Given the description of an element on the screen output the (x, y) to click on. 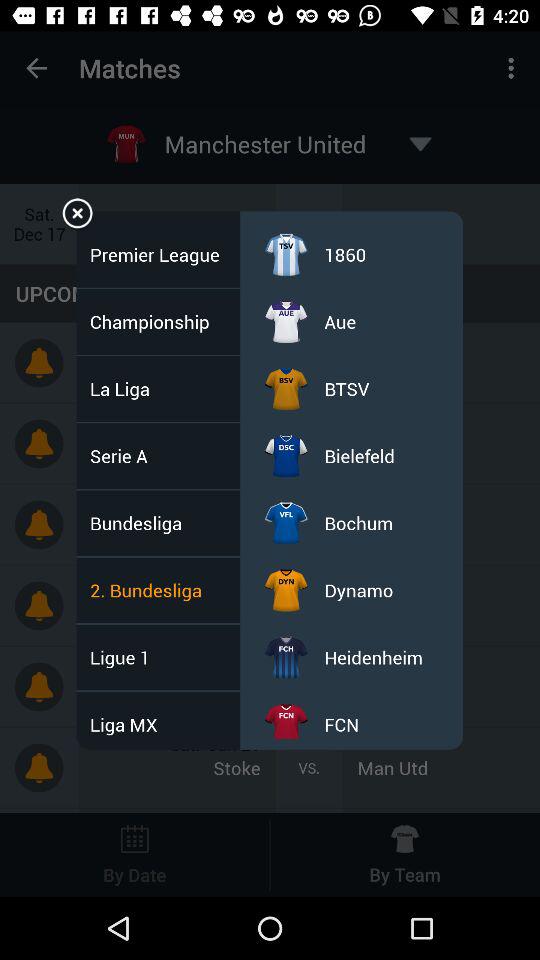
launch item below heidenheim item (341, 724)
